Given the description of an element on the screen output the (x, y) to click on. 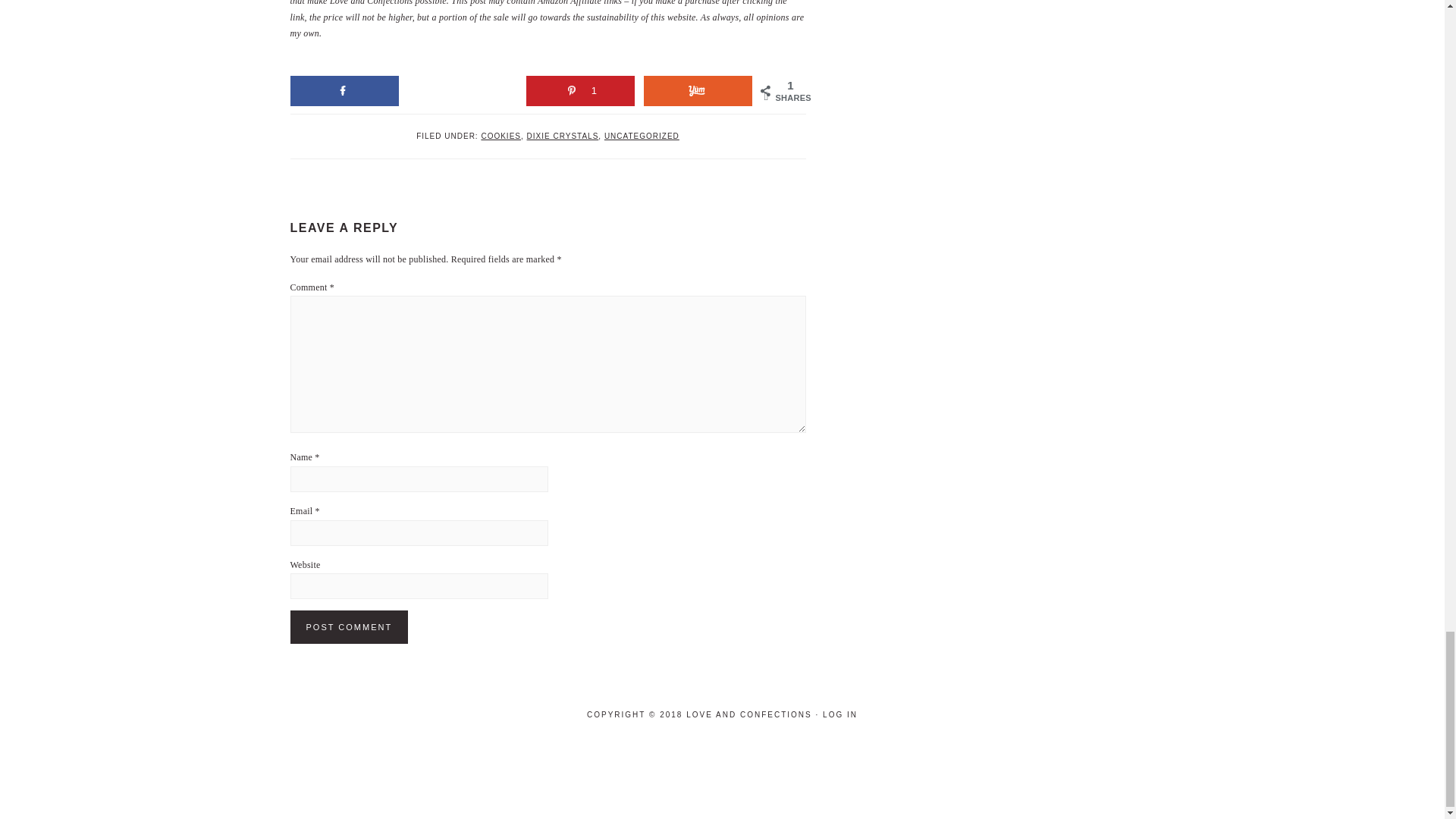
COOKIES (500, 135)
Post Comment (348, 626)
Share on Facebook (343, 91)
1 (579, 91)
UNCATEGORIZED (641, 135)
DIXIE CRYSTALS (562, 135)
Post Comment (348, 626)
